Given the description of an element on the screen output the (x, y) to click on. 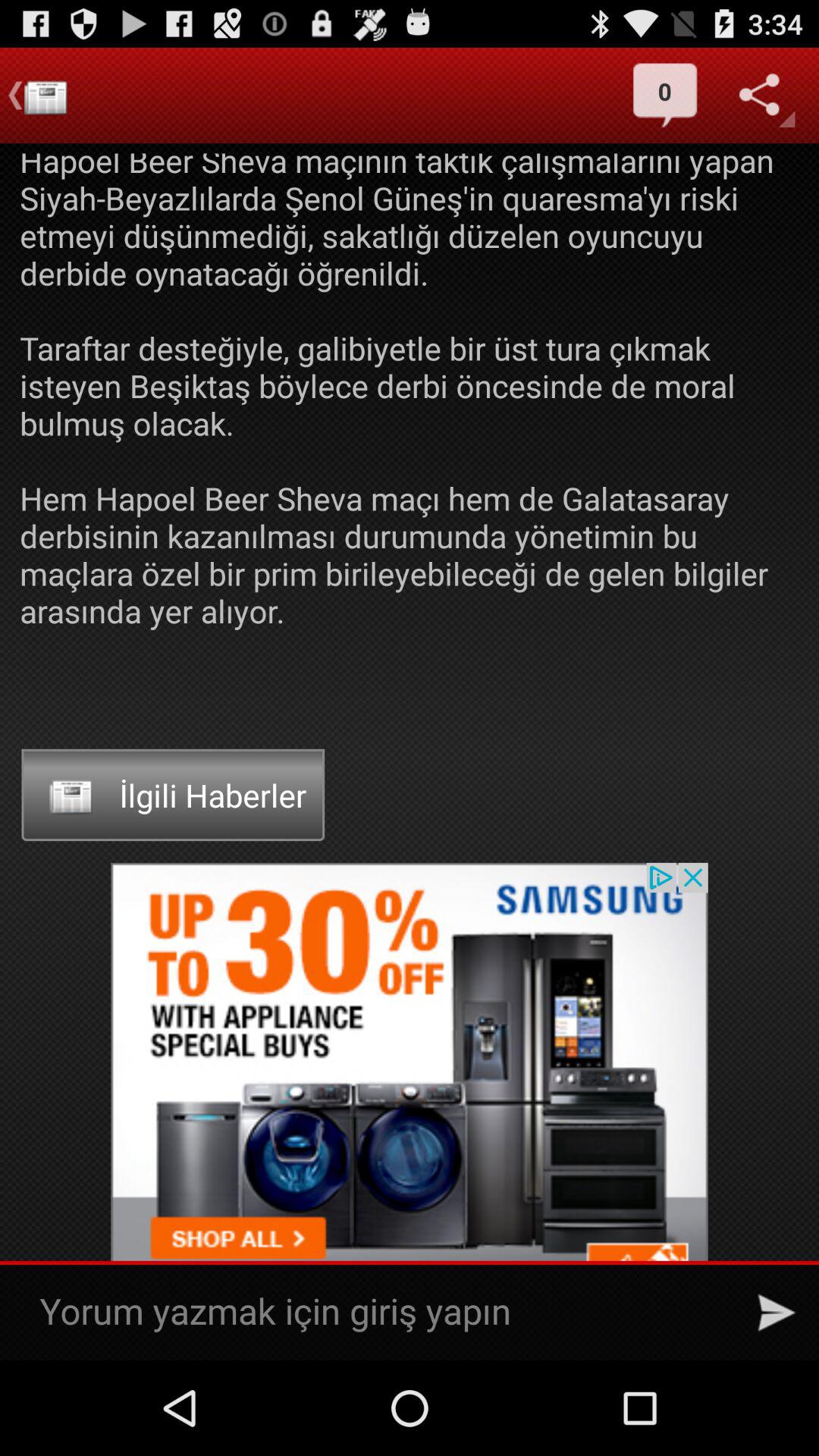
send message (776, 1312)
